Given the description of an element on the screen output the (x, y) to click on. 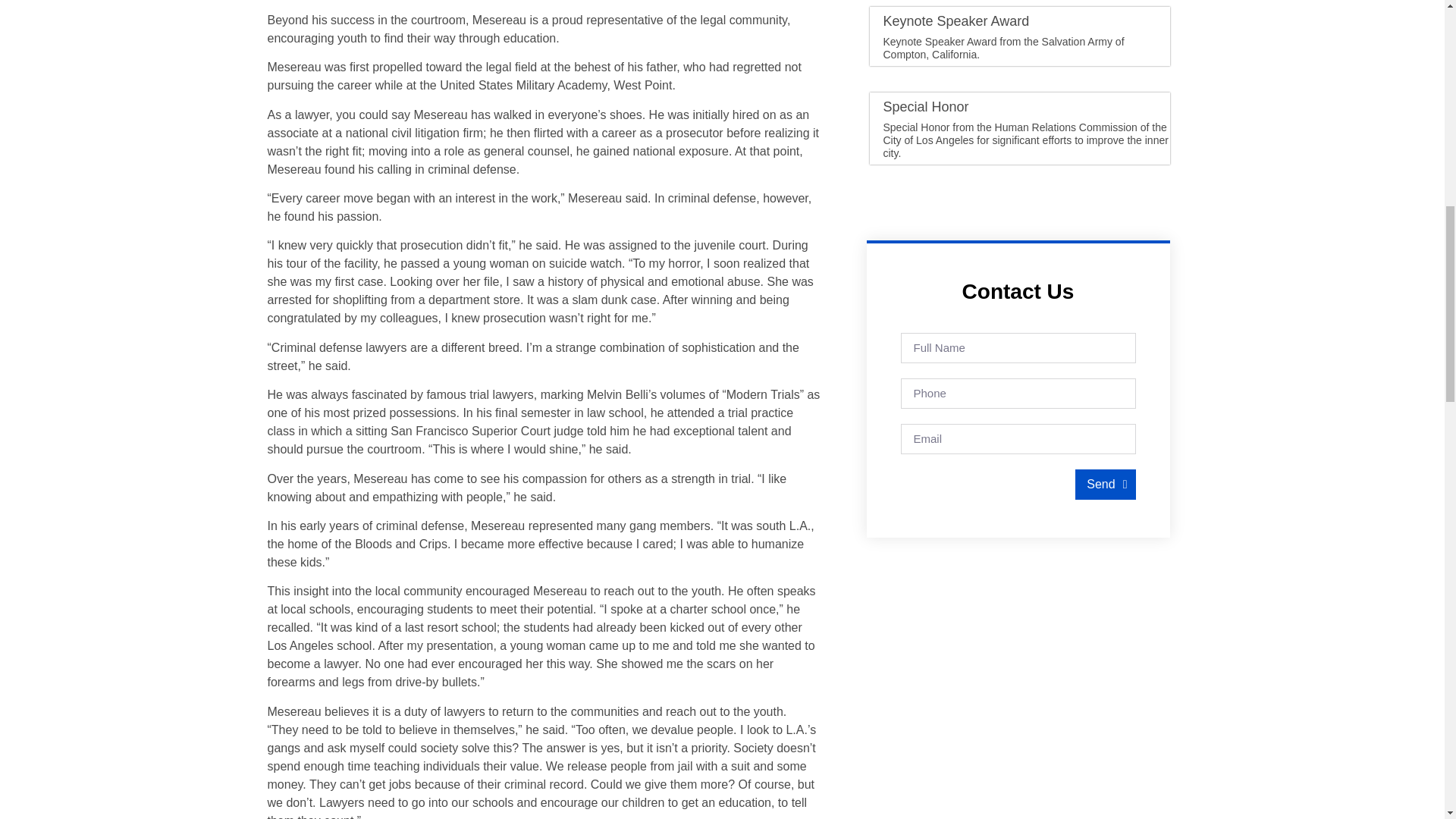
Send (1105, 484)
Special Honor (925, 106)
Keynote Speaker Award (955, 20)
